Given the description of an element on the screen output the (x, y) to click on. 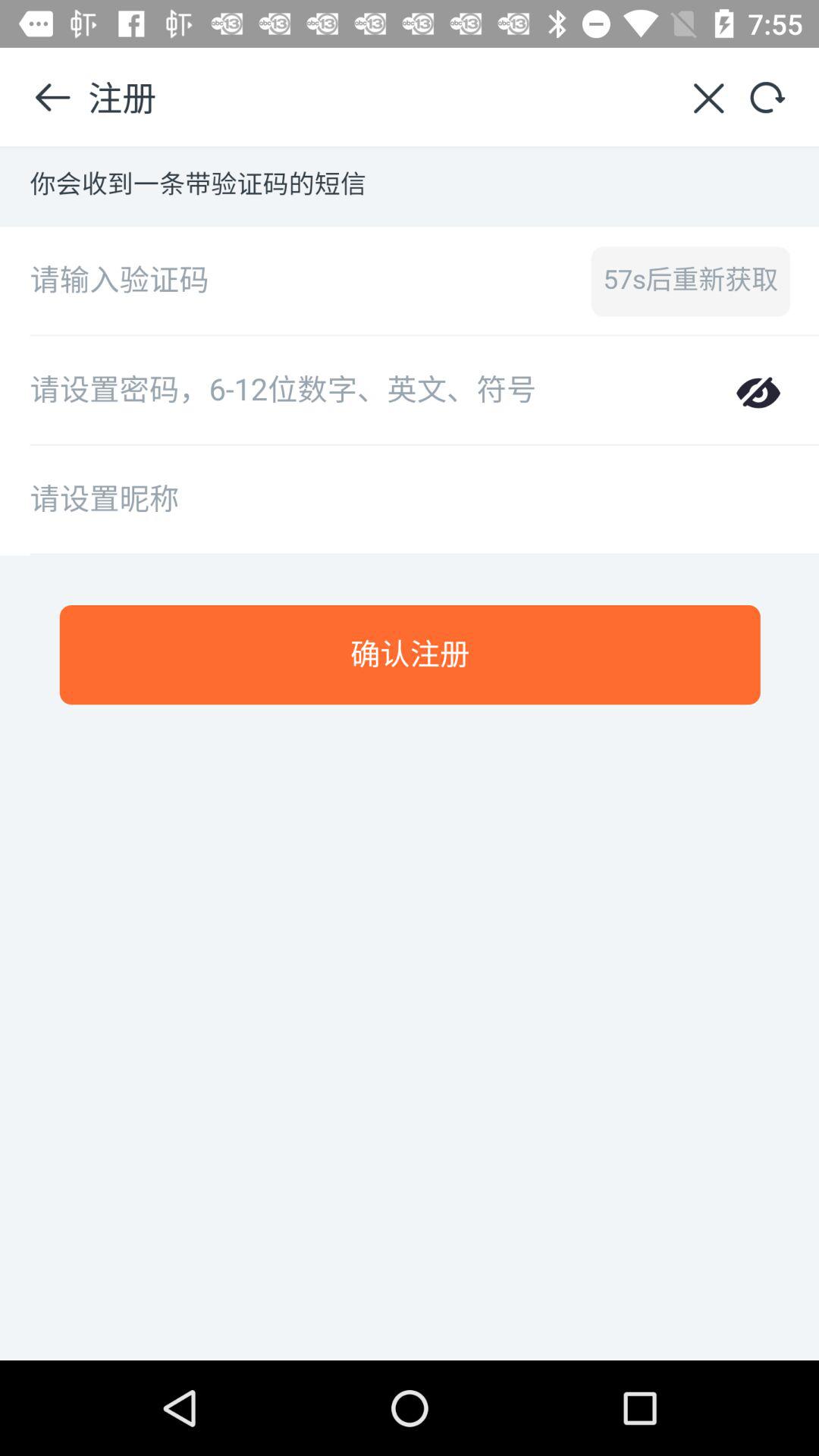
go to advertisement (409, 753)
